Given the description of an element on the screen output the (x, y) to click on. 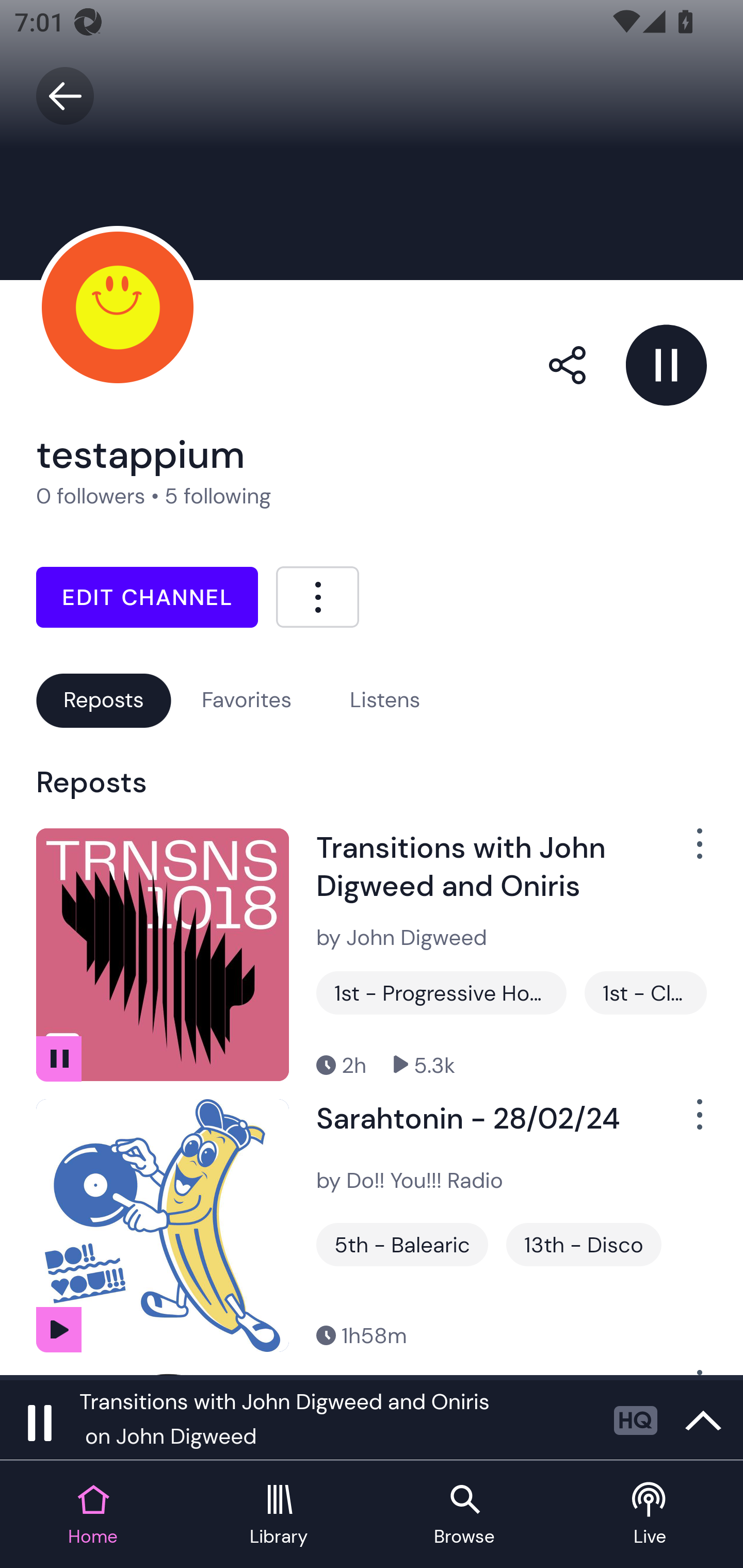
0 followers (90, 495)
5 following (217, 495)
More Menu (317, 596)
Edit Channel EDIT CHANNEL (146, 597)
Reposts (103, 699)
Favorites (246, 699)
Listens (384, 699)
Show Options Menu Button (688, 850)
1st - Progressive House (441, 992)
1st - Club (645, 992)
Show Options Menu Button (688, 1122)
5th - Balearic (402, 1244)
13th - Disco (583, 1244)
Home tab Home (92, 1515)
Library tab Library (278, 1515)
Browse tab Browse (464, 1515)
Live tab Live (650, 1515)
